Given the description of an element on the screen output the (x, y) to click on. 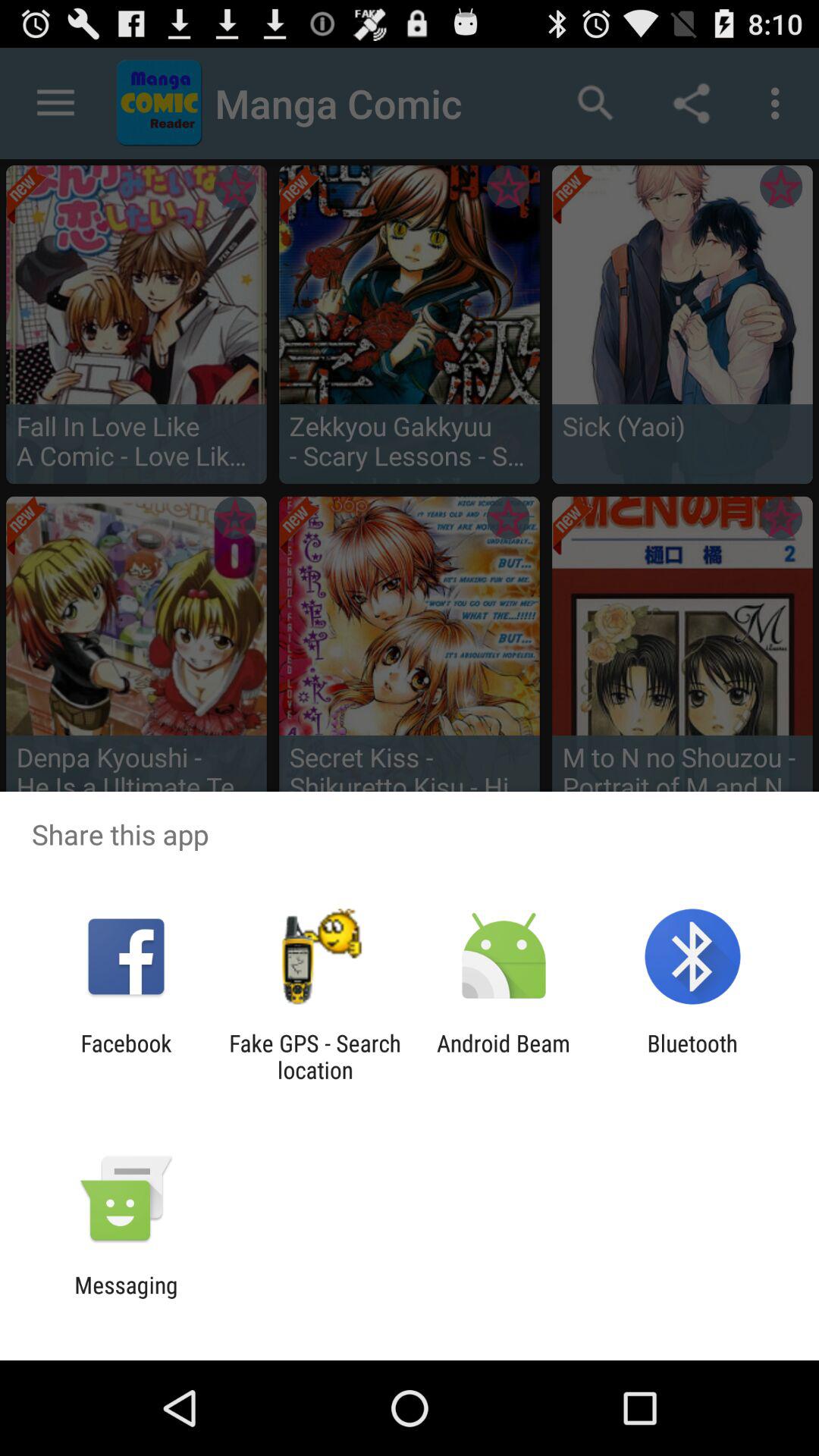
press bluetooth (692, 1056)
